Given the description of an element on the screen output the (x, y) to click on. 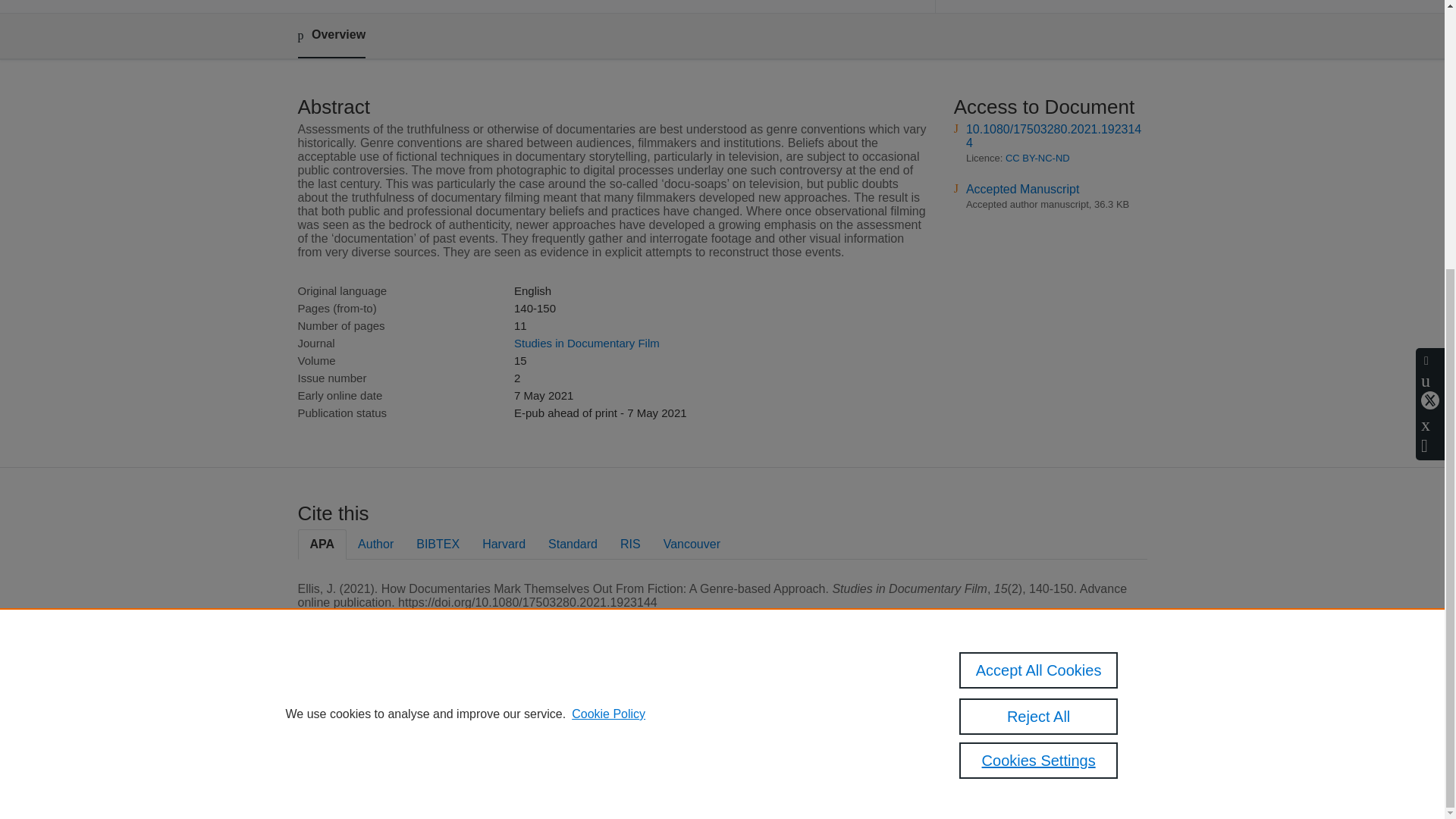
Studies in Documentary Film (586, 342)
Royal Holloway Research Portal data protection policy (1061, 713)
About web accessibility (1042, 740)
CC BY-NC-ND (1038, 157)
Pure (362, 708)
Cookies Settings (334, 781)
use of cookies (796, 760)
Report vulnerability (1033, 760)
Accepted Manuscript (1022, 188)
Elsevier B.V. (506, 728)
Cookies Settings (1038, 367)
Cookie Policy (608, 320)
Overview (331, 35)
Scopus (394, 708)
